Given the description of an element on the screen output the (x, y) to click on. 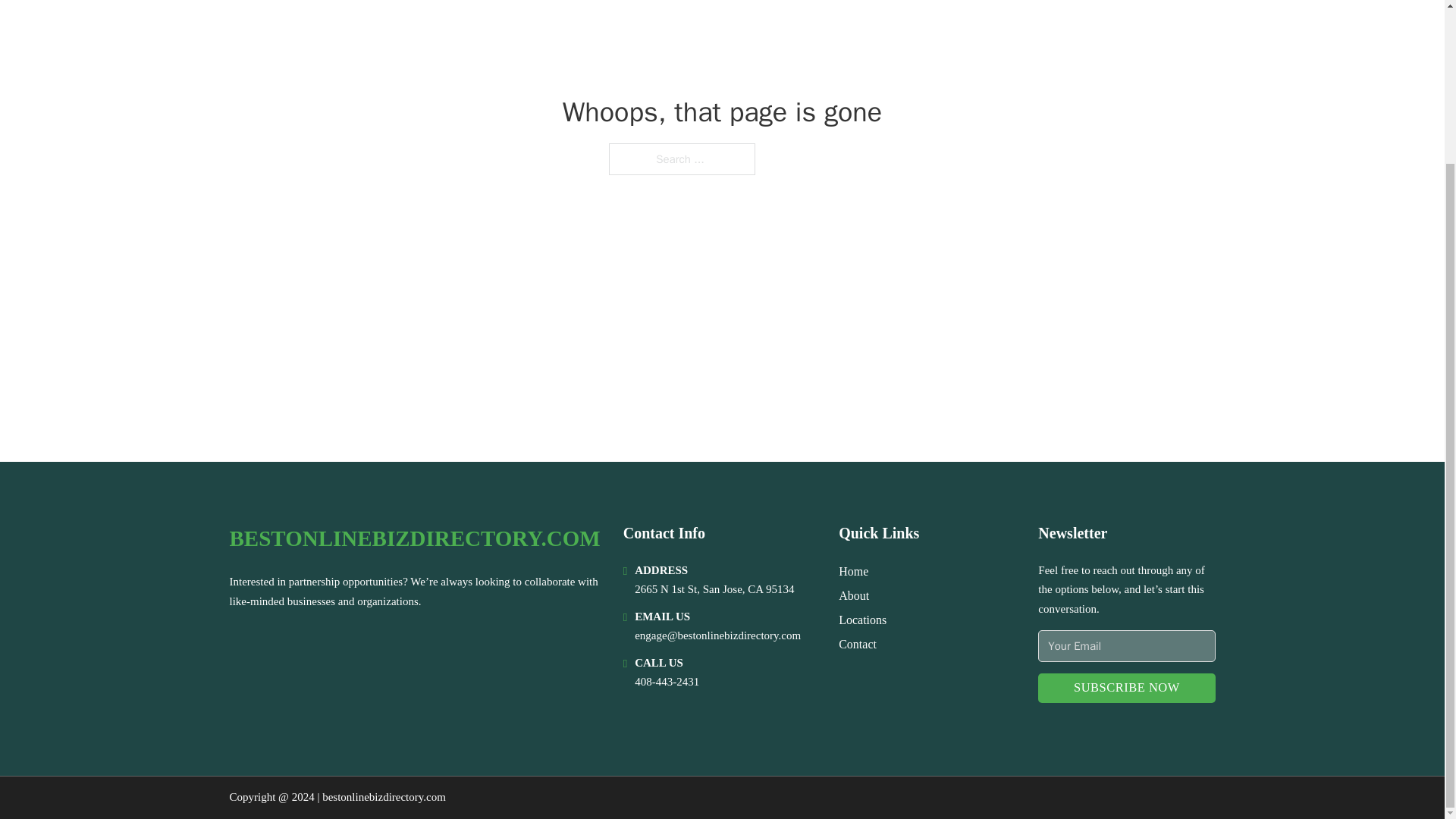
BESTONLINEBIZDIRECTORY.COM (413, 538)
Locations (862, 619)
Contact (857, 643)
About (853, 595)
408-443-2431 (666, 681)
SUBSCRIBE NOW (1126, 687)
Home (852, 571)
